Given the description of an element on the screen output the (x, y) to click on. 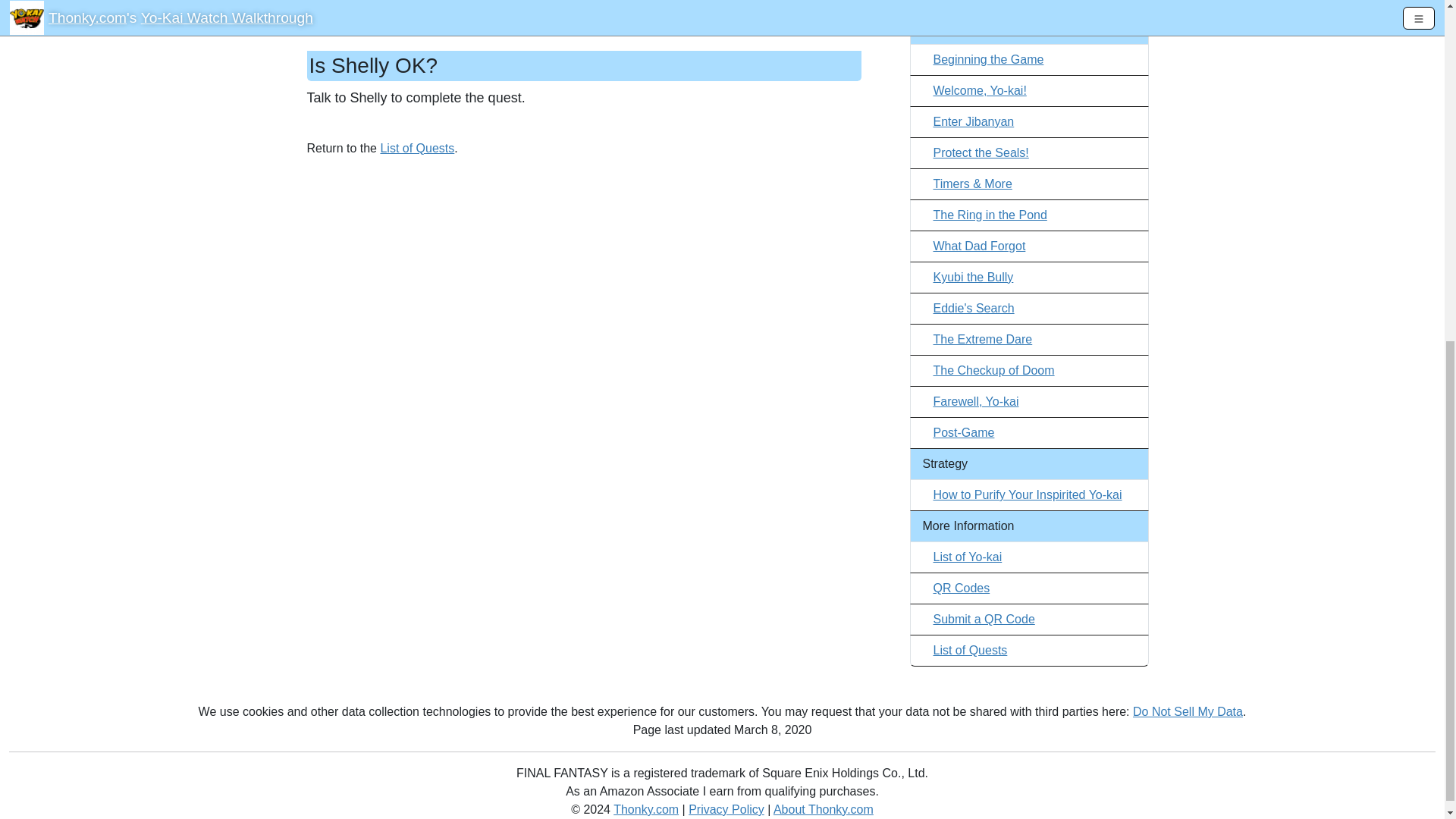
Yo-Kai Watch Walkthrough (1012, 2)
Post-Game (963, 431)
The Ring in the Pond (989, 214)
The Extreme Dare (982, 338)
What Dad Forgot (979, 245)
Eddie's Search (973, 308)
Beginning the Game (988, 59)
How to Purify Your Inspirited Yo-kai (1027, 494)
Kyubi the Bully (973, 277)
List of Quests (970, 649)
Advertisement (583, 335)
Submit a QR Code (983, 618)
Welcome, Yo-kai! (979, 90)
QR Codes (961, 587)
Enter Jibanyan (973, 121)
